Given the description of an element on the screen output the (x, y) to click on. 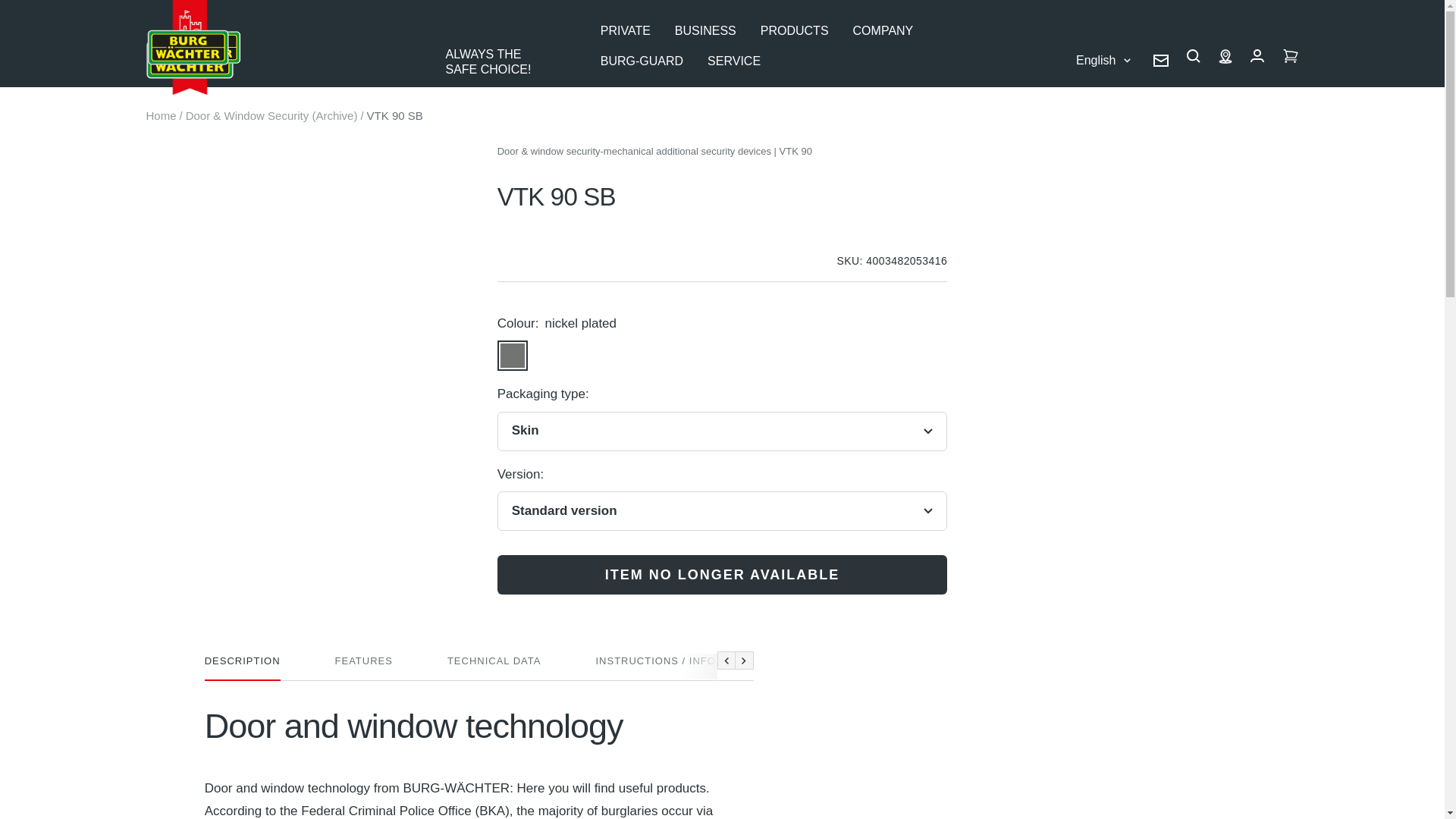
ITEM NO LONGER AVAILABLE (722, 574)
Standard version (722, 510)
Standard version (722, 553)
DESCRIPTION (243, 667)
BURG-GUARD (640, 61)
PRIVATE (624, 30)
BUSINESS (705, 30)
en (1084, 169)
de (1084, 115)
SERVICE (733, 61)
English (1102, 59)
Continue (744, 660)
fr (1084, 198)
Skin (722, 431)
